Given the description of an element on the screen output the (x, y) to click on. 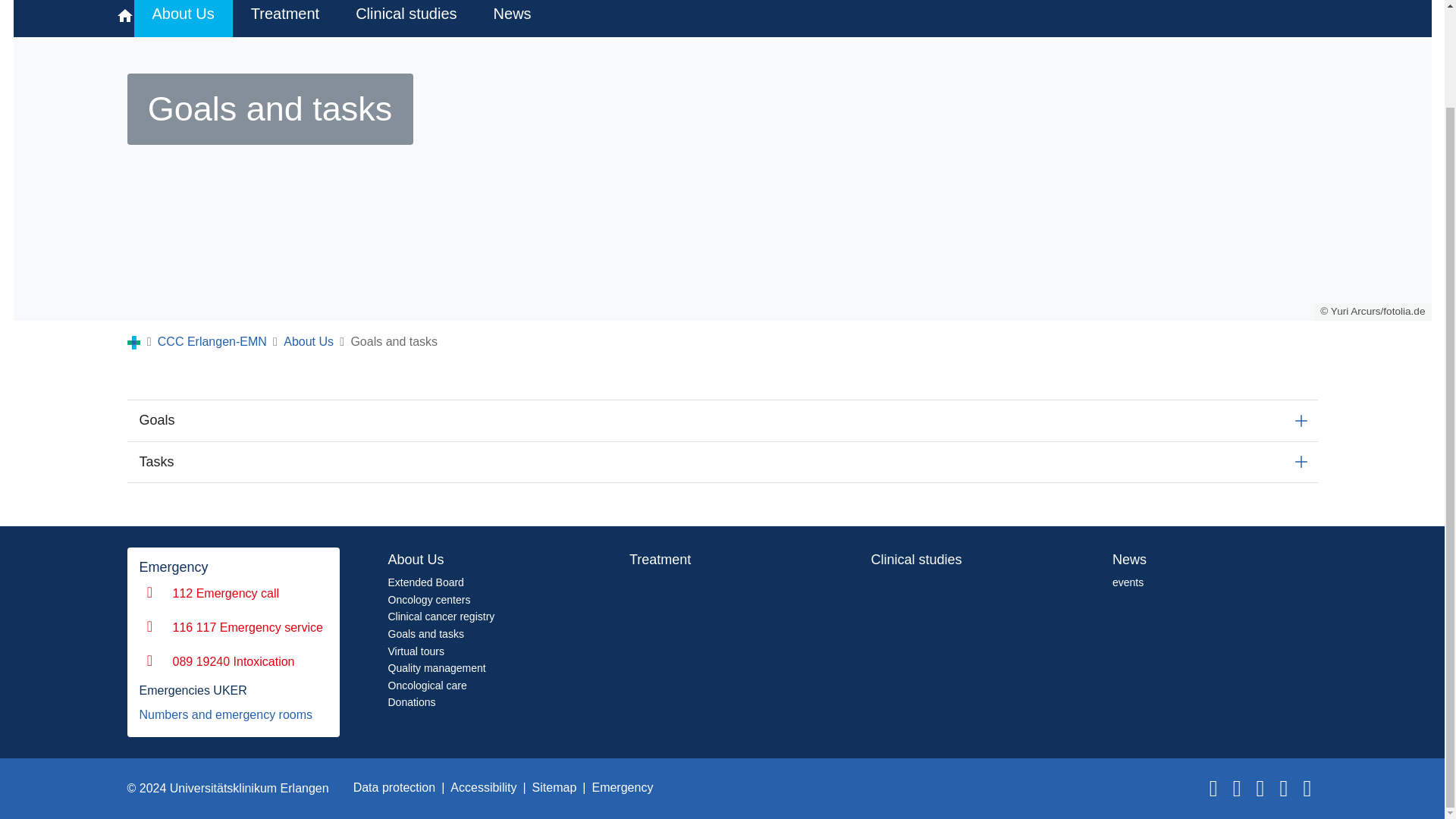
Tasks (722, 462)
CCC Erlangen-EMN (211, 341)
About Us (182, 18)
Goals (722, 420)
Treatment (284, 18)
Clinical studies (405, 18)
About Us (308, 341)
News (513, 18)
About Us (182, 18)
Treatment (284, 18)
